Given the description of an element on the screen output the (x, y) to click on. 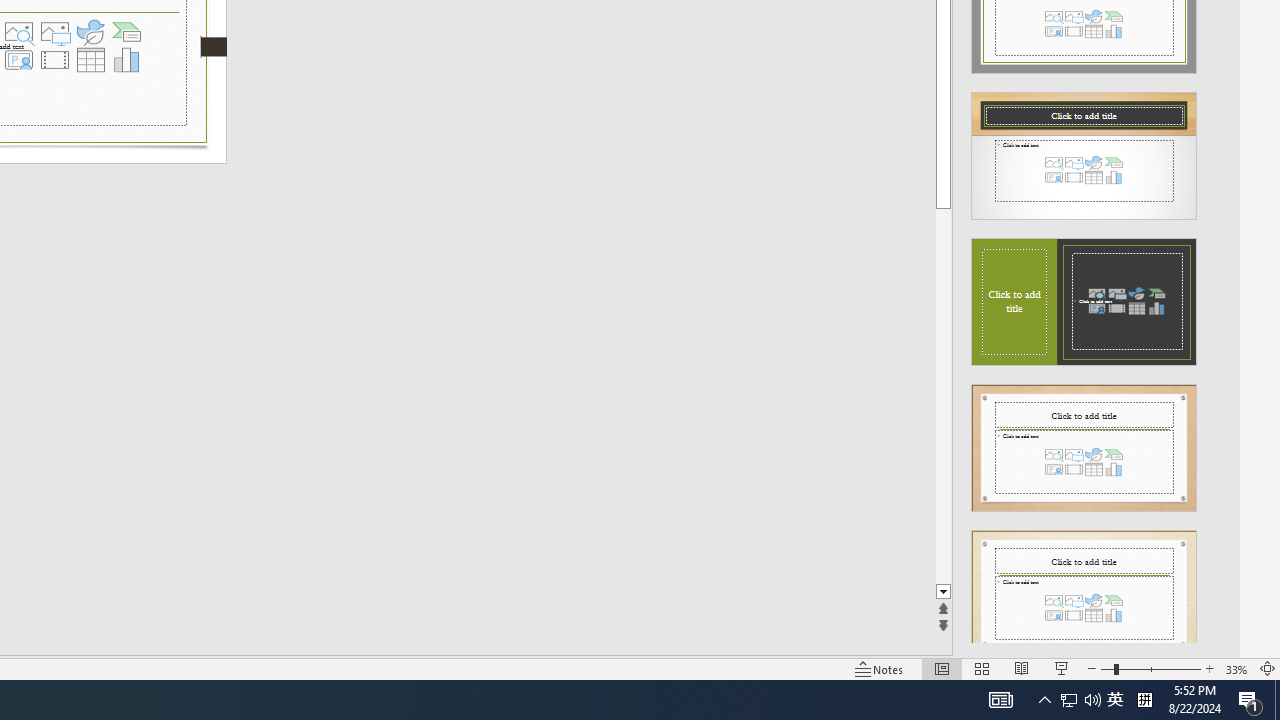
Design Idea (1083, 587)
Zoom 33% (1236, 668)
Insert a SmartArt Graphic (127, 32)
Insert an Icon (91, 32)
Insert Table (91, 60)
Insert Video (54, 60)
